Given the description of an element on the screen output the (x, y) to click on. 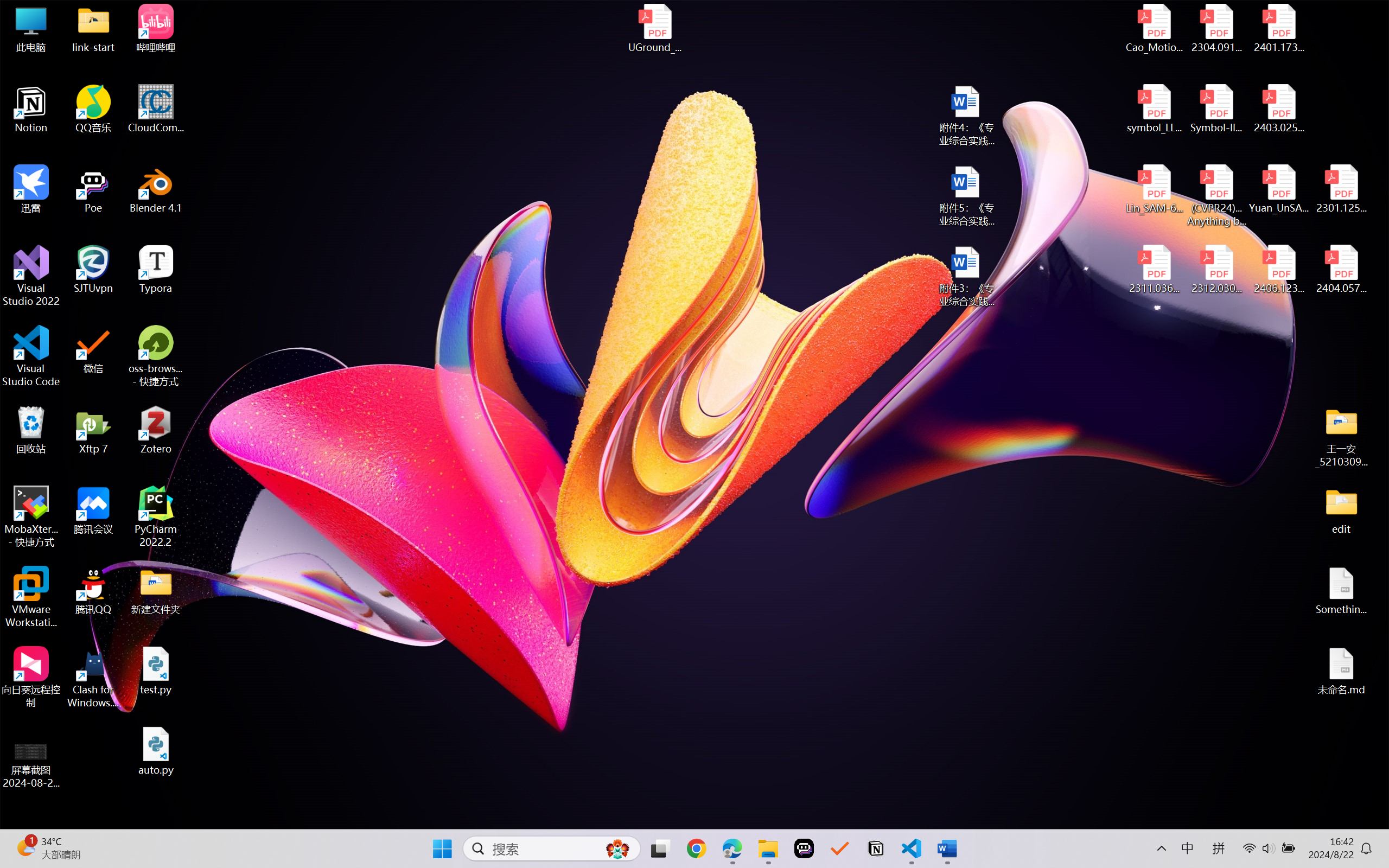
Google Chrome (696, 848)
Typora (156, 269)
Blender 4.1 (156, 189)
2304.09121v3.pdf (1216, 28)
edit (1340, 510)
test.py (156, 670)
2301.12597v3.pdf (1340, 189)
